Given the description of an element on the screen output the (x, y) to click on. 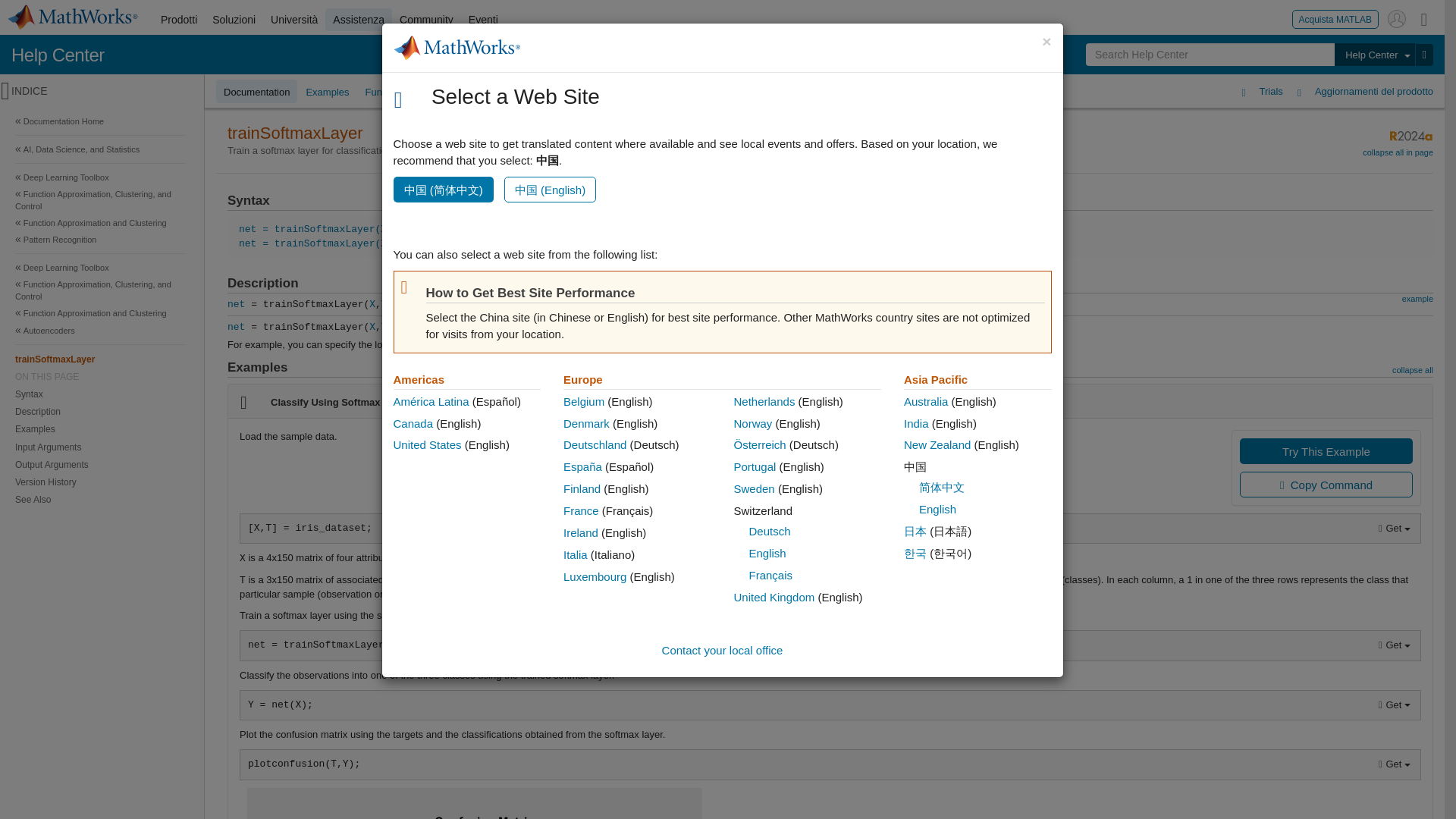
Prodotti (178, 19)
Accedere al proprio MathWorks Account (1396, 18)
Assistenza (357, 19)
Matrix Menu (1423, 18)
Acquista MATLAB (1335, 18)
ON THIS PAGE (100, 377)
trainSoftmaxLayer (100, 358)
Soluzioni (234, 19)
Eventi (483, 19)
Community (426, 19)
